Given the description of an element on the screen output the (x, y) to click on. 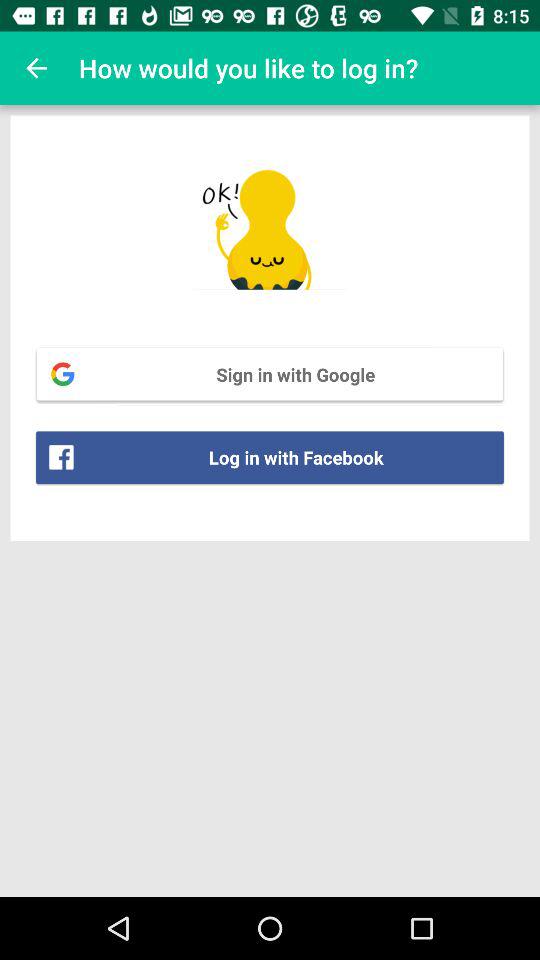
select item next to the how would you app (36, 68)
